Given the description of an element on the screen output the (x, y) to click on. 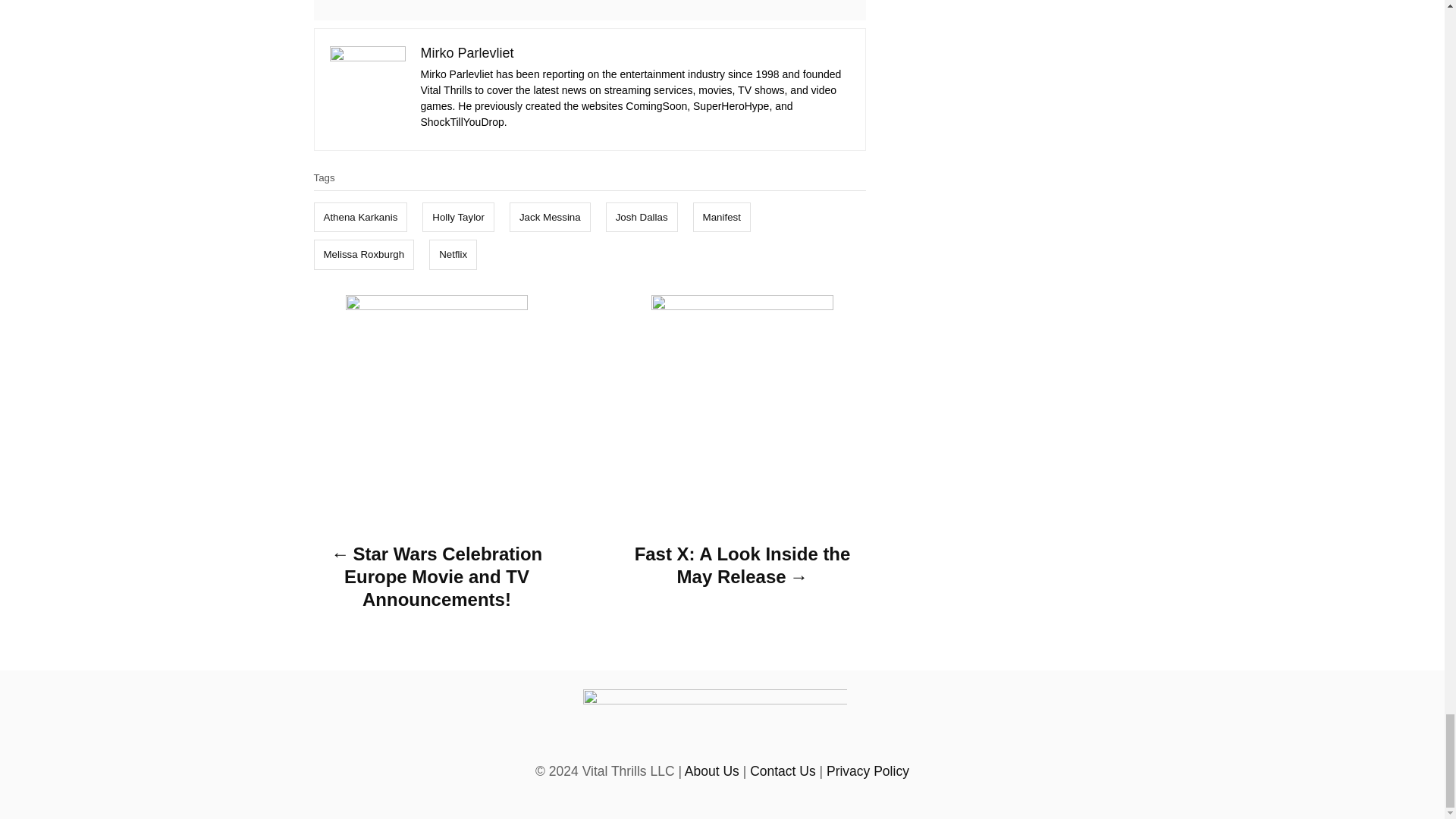
Privacy Policy (867, 770)
Jack Messina (550, 217)
Melissa Roxburgh (364, 254)
Manifest (722, 217)
Fast X: A Look Inside the May Release (741, 569)
Contact Us (782, 770)
Mirko Parlevliet (466, 52)
Josh Dallas (641, 217)
Holly Taylor (458, 217)
About Us (711, 770)
